Given the description of an element on the screen output the (x, y) to click on. 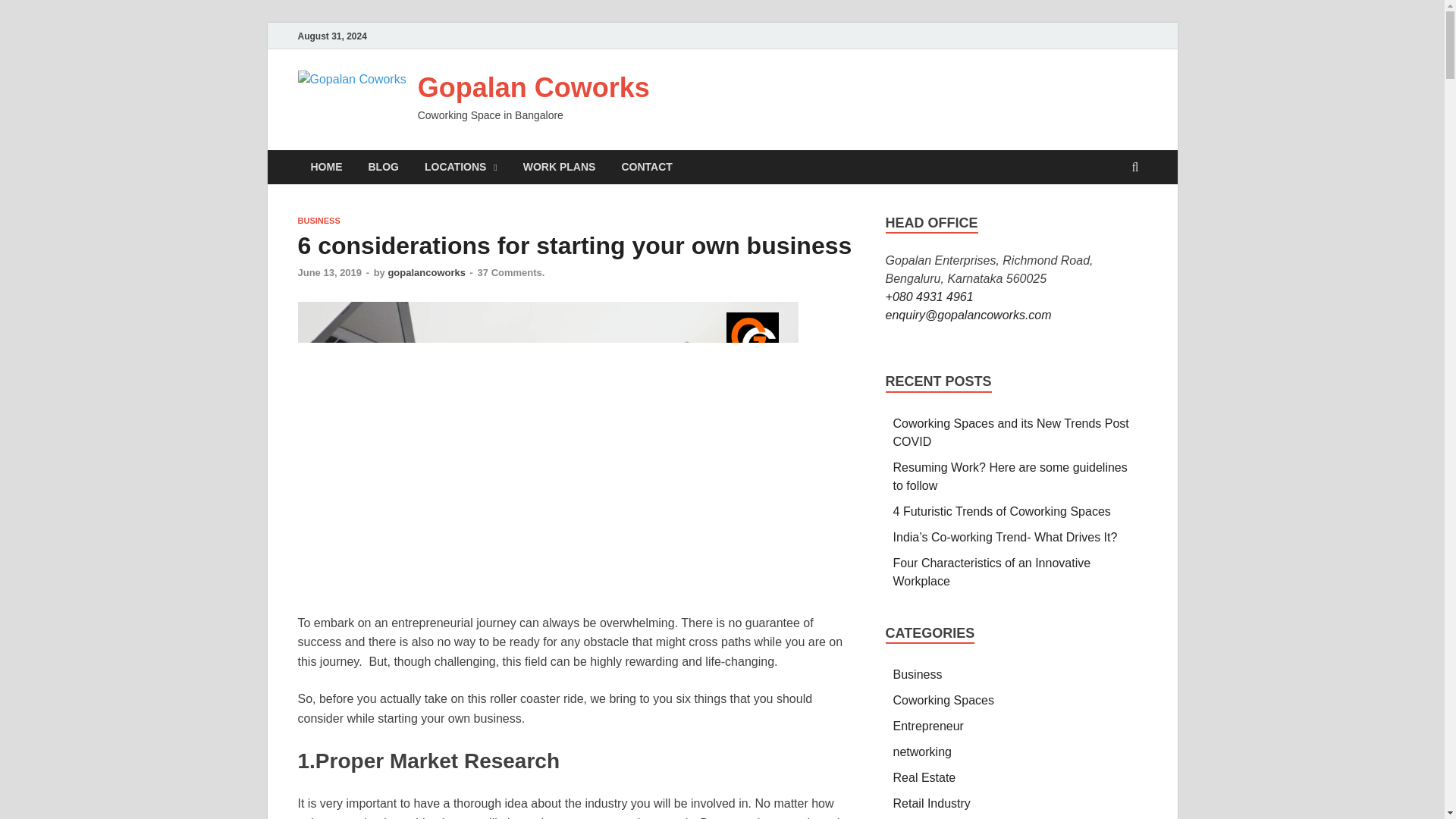
BLOG (382, 166)
WORK PLANS (559, 166)
37 Comments. (510, 272)
Blog (382, 166)
BUSINESS (318, 220)
Gopalan Coworks (533, 87)
June 13, 2019 (329, 272)
HOME (326, 166)
gopalancoworks (426, 272)
LOCATIONS (461, 166)
